Given the description of an element on the screen output the (x, y) to click on. 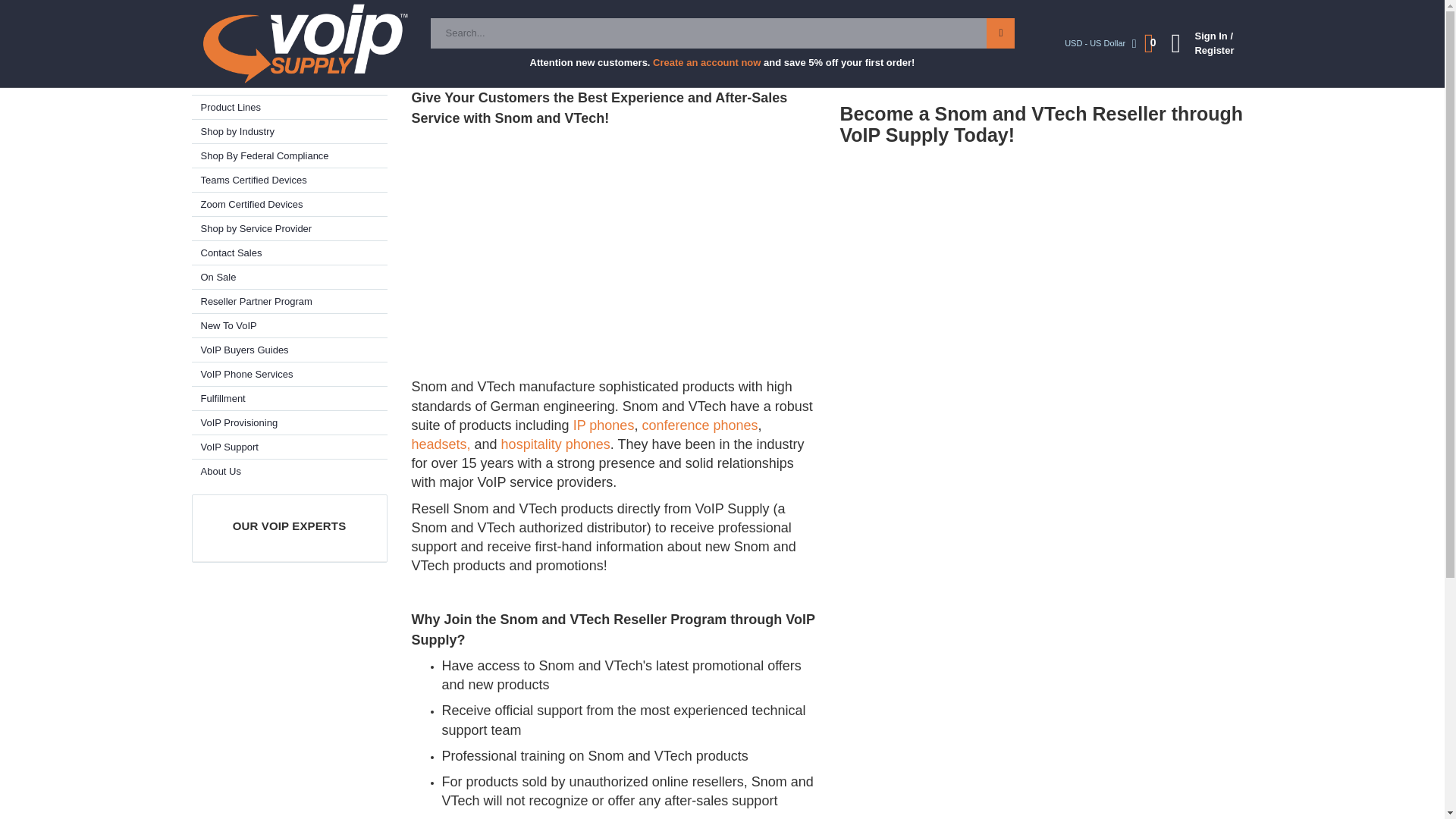
New To VoIP? (370, 15)
IP phones (603, 425)
1-800-398-8647 (1039, 14)
conference phones (699, 425)
Brands (288, 83)
hospitality phones (555, 444)
Create an account now (706, 61)
Blog (209, 15)
headsets,  (442, 444)
Search (1000, 33)
